Given the description of an element on the screen output the (x, y) to click on. 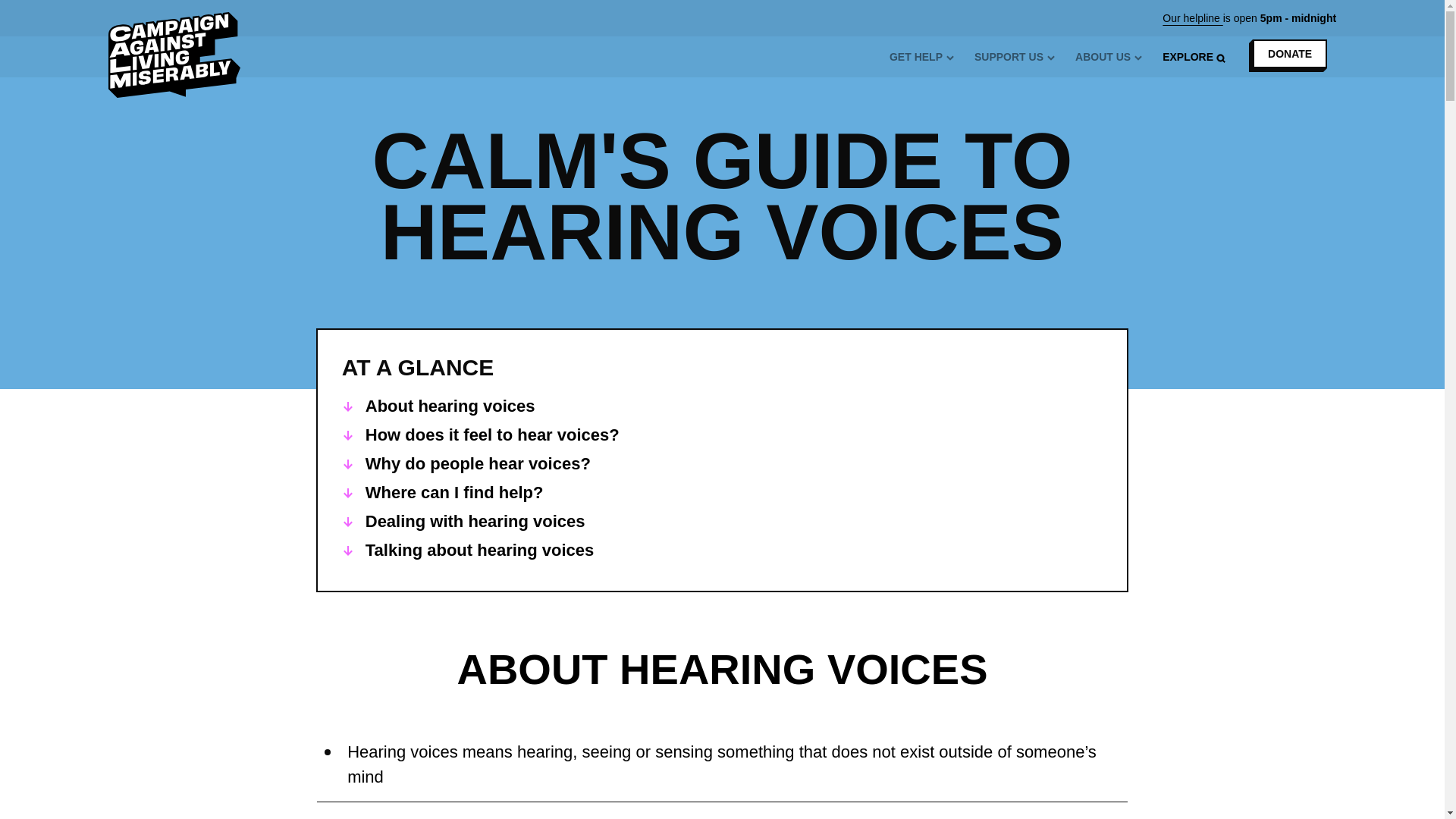
EXPLORE (1193, 56)
SUPPORT US (1014, 56)
Our helpline (1192, 18)
ABOUT US (1108, 56)
GET HELP (922, 56)
DONATE (1287, 55)
